Given the description of an element on the screen output the (x, y) to click on. 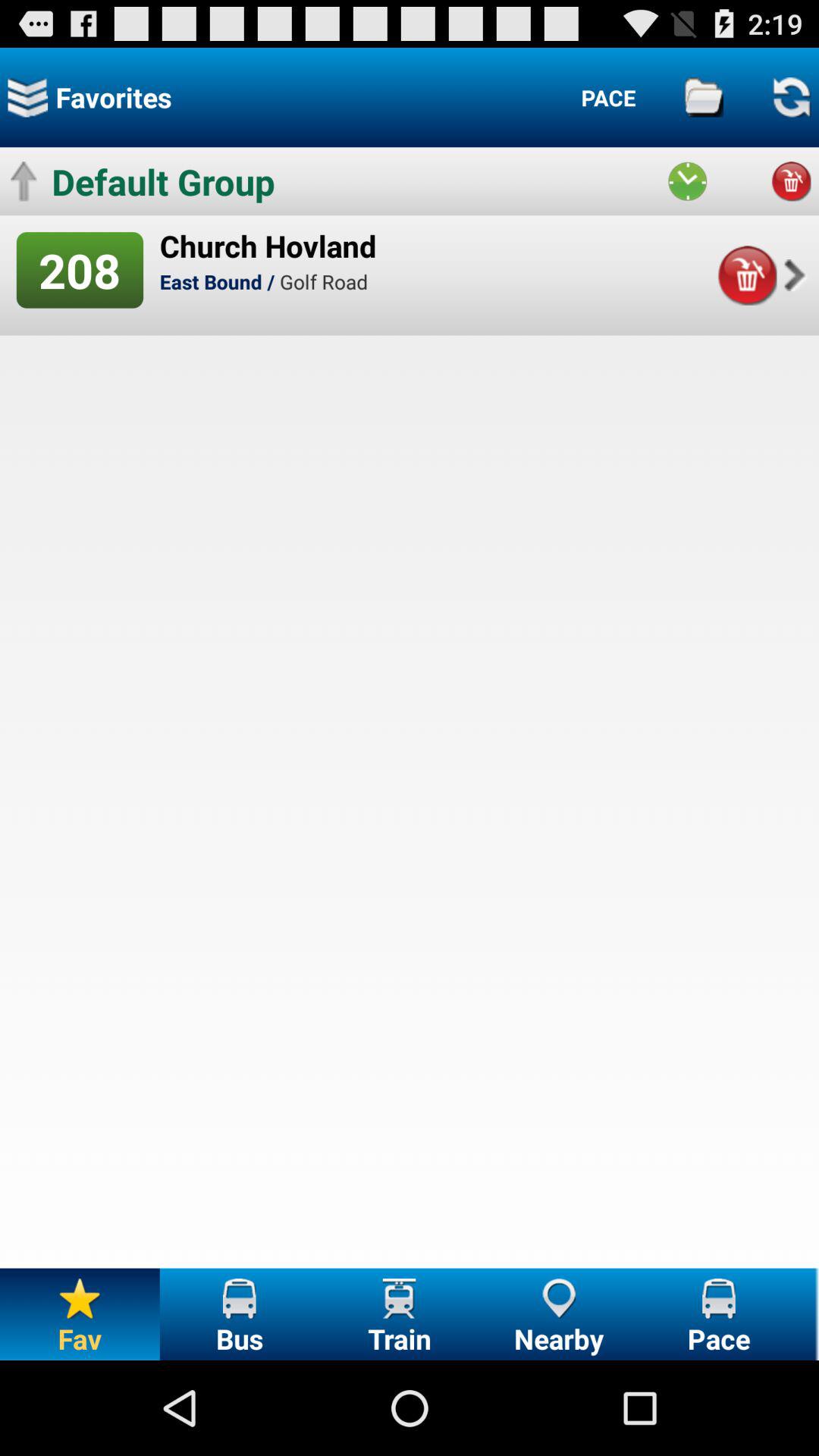
delete item (746, 275)
